Given the description of an element on the screen output the (x, y) to click on. 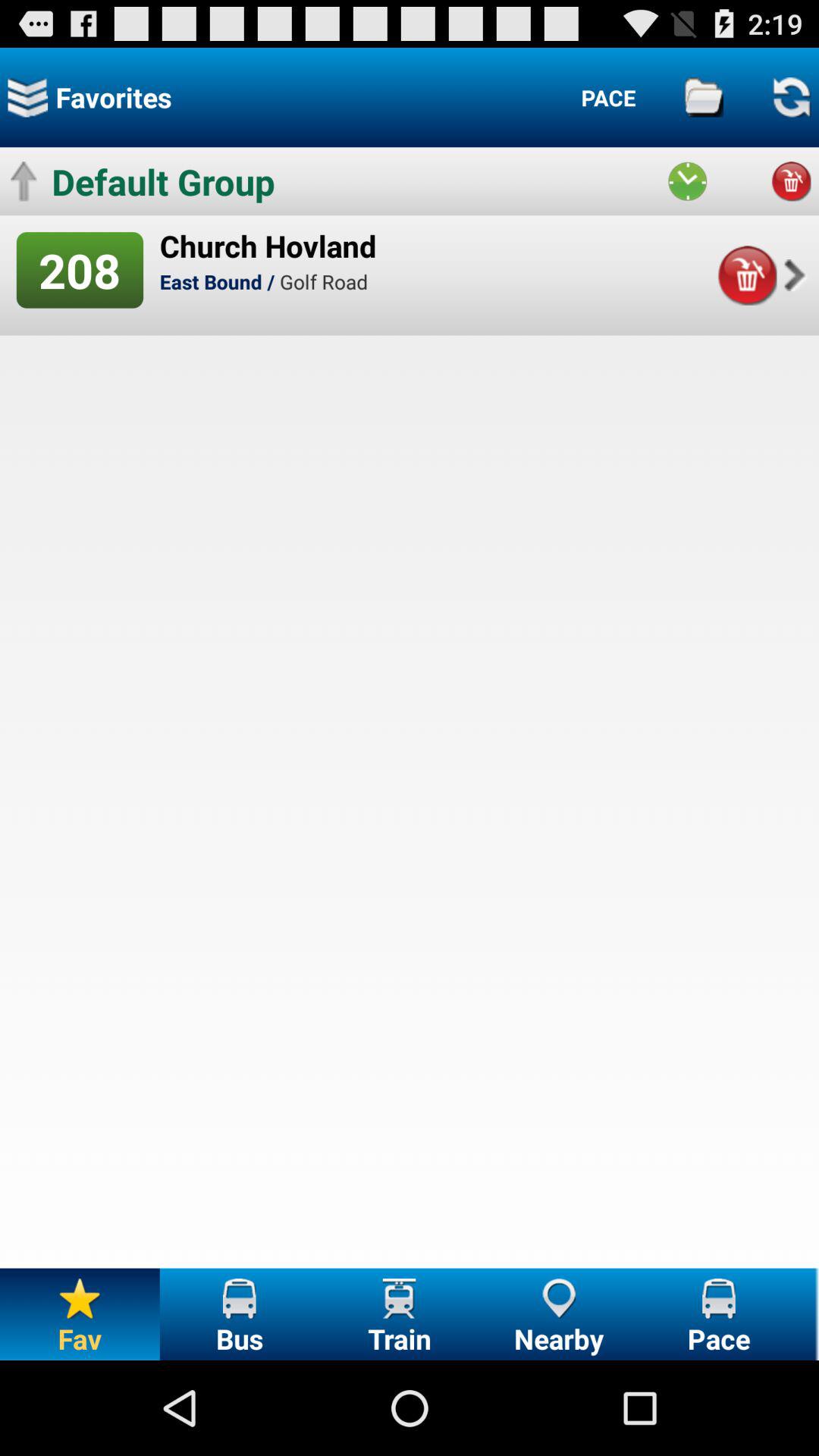
delete item (746, 275)
